Given the description of an element on the screen output the (x, y) to click on. 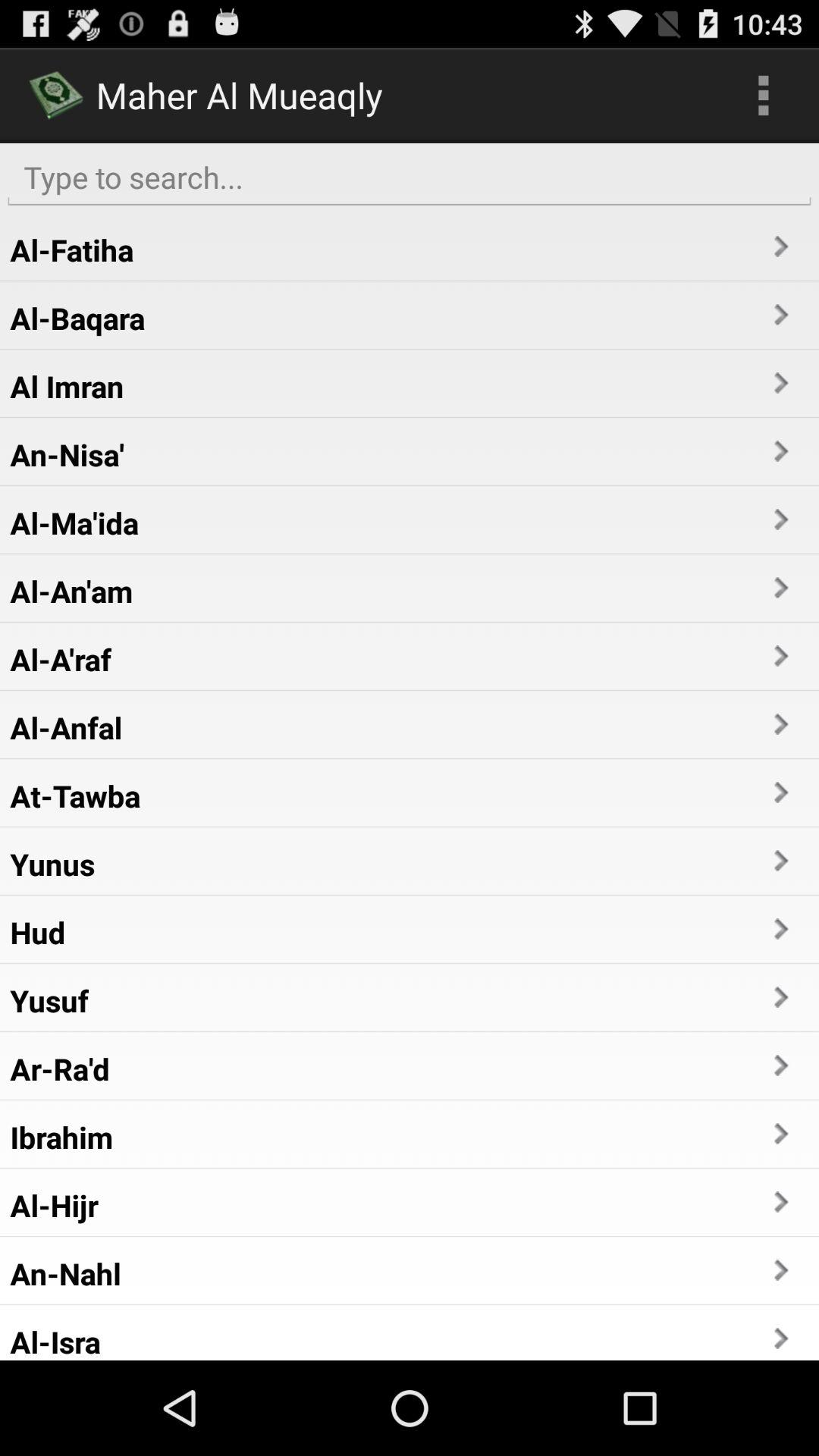
launch the app above yunus icon (75, 795)
